Given the description of an element on the screen output the (x, y) to click on. 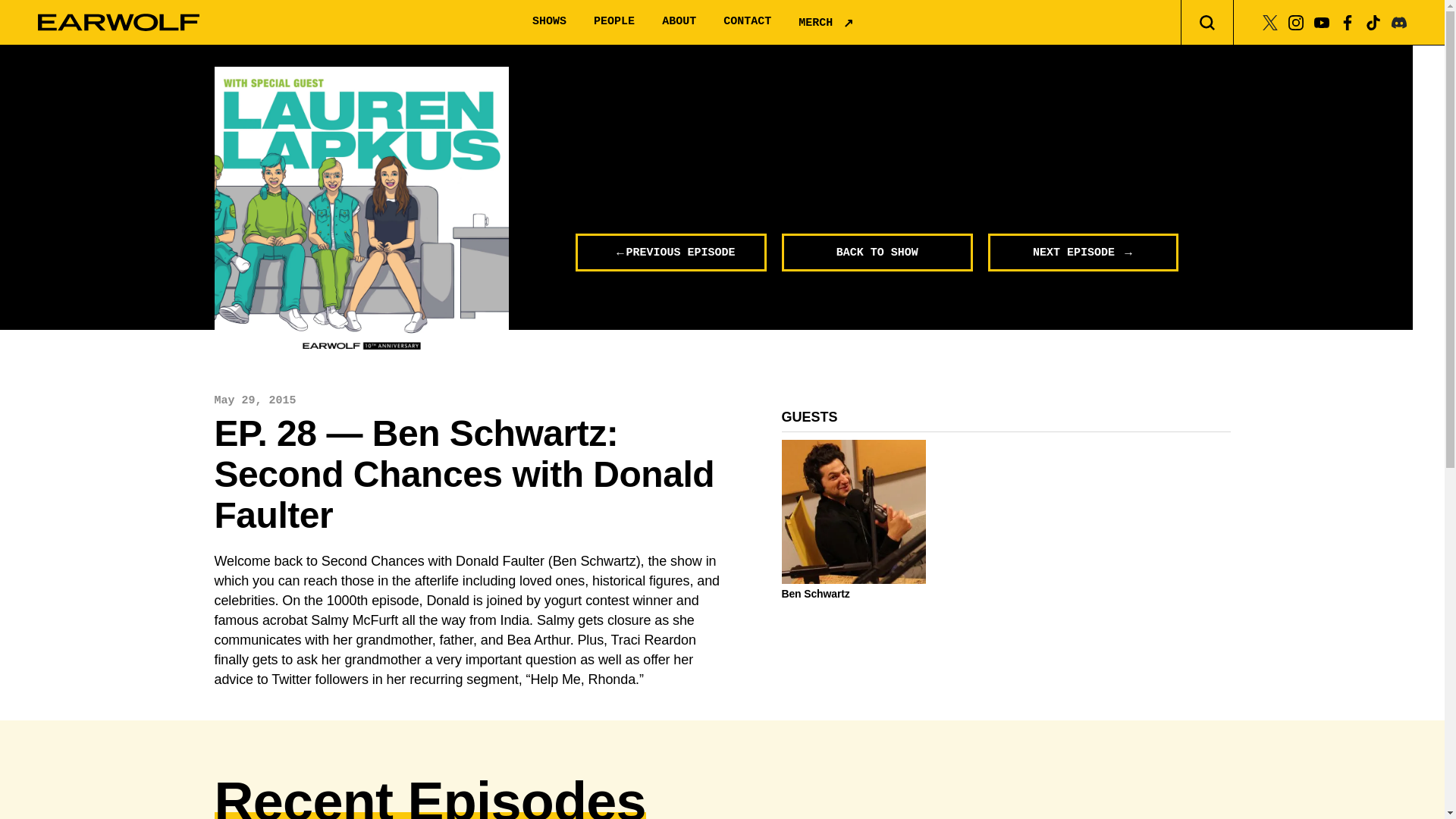
Facebook (1347, 21)
Toggle Search (1206, 22)
Earwolf (118, 22)
Ben Schwartz: Second Chances with Donald Faulter (361, 213)
ABOUT (678, 21)
BACK TO SHOW (876, 252)
SHOWS (549, 21)
Instagram (1295, 21)
PEOPLE (614, 21)
Ben Schwartz (853, 593)
CONTACT (747, 21)
Tiktok (1372, 21)
YouTube (1321, 21)
